Given the description of an element on the screen output the (x, y) to click on. 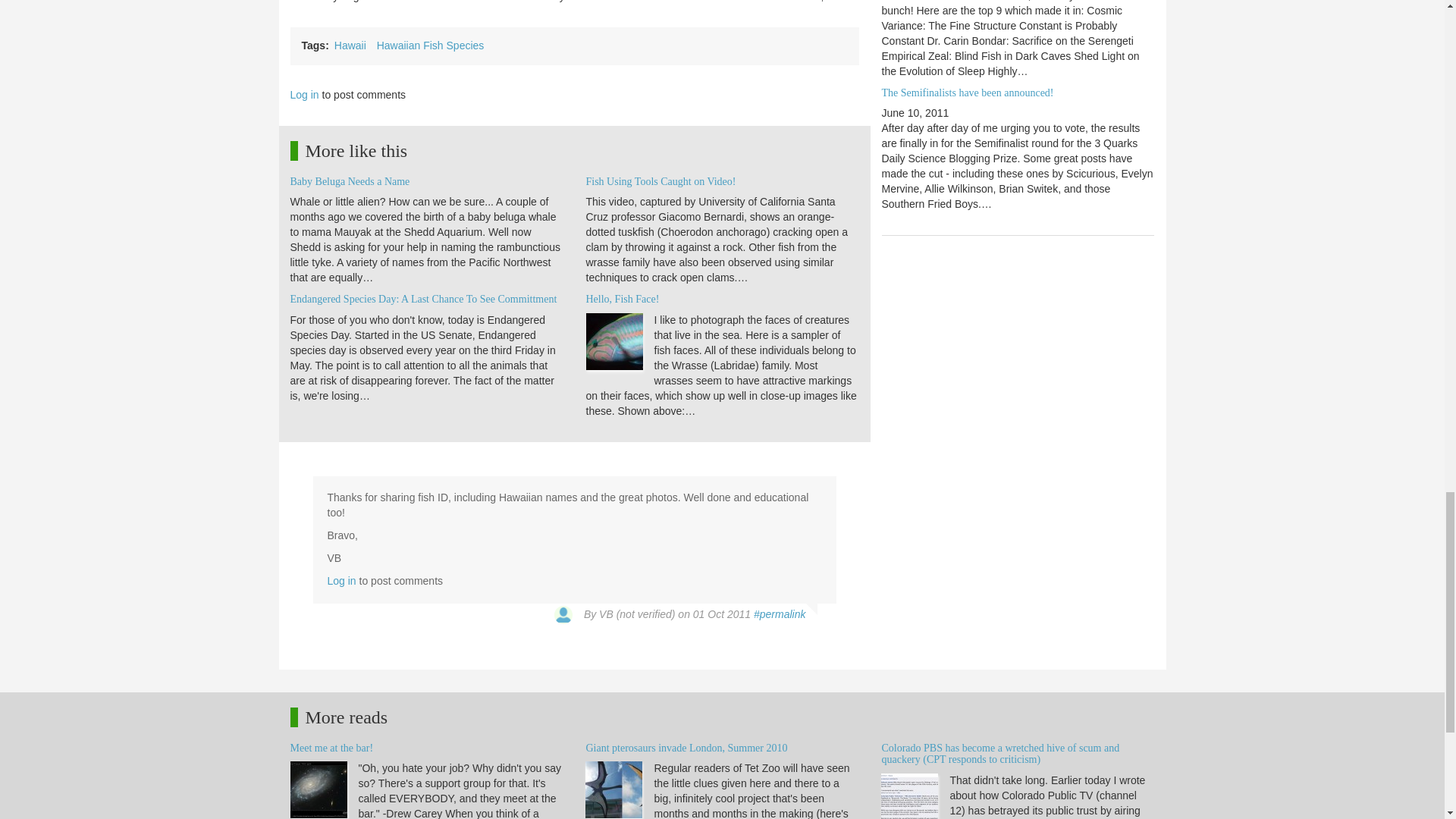
Fish Using Tools Caught on Video! (660, 181)
Log in (341, 580)
Hello, Fish Face! (622, 298)
Hawaii (350, 45)
Log in (303, 94)
Endangered Species Day: A Last Chance To See Committment (422, 298)
Hawaiian Fish Species (430, 45)
Baby Beluga Needs a Name (349, 181)
